Given the description of an element on the screen output the (x, y) to click on. 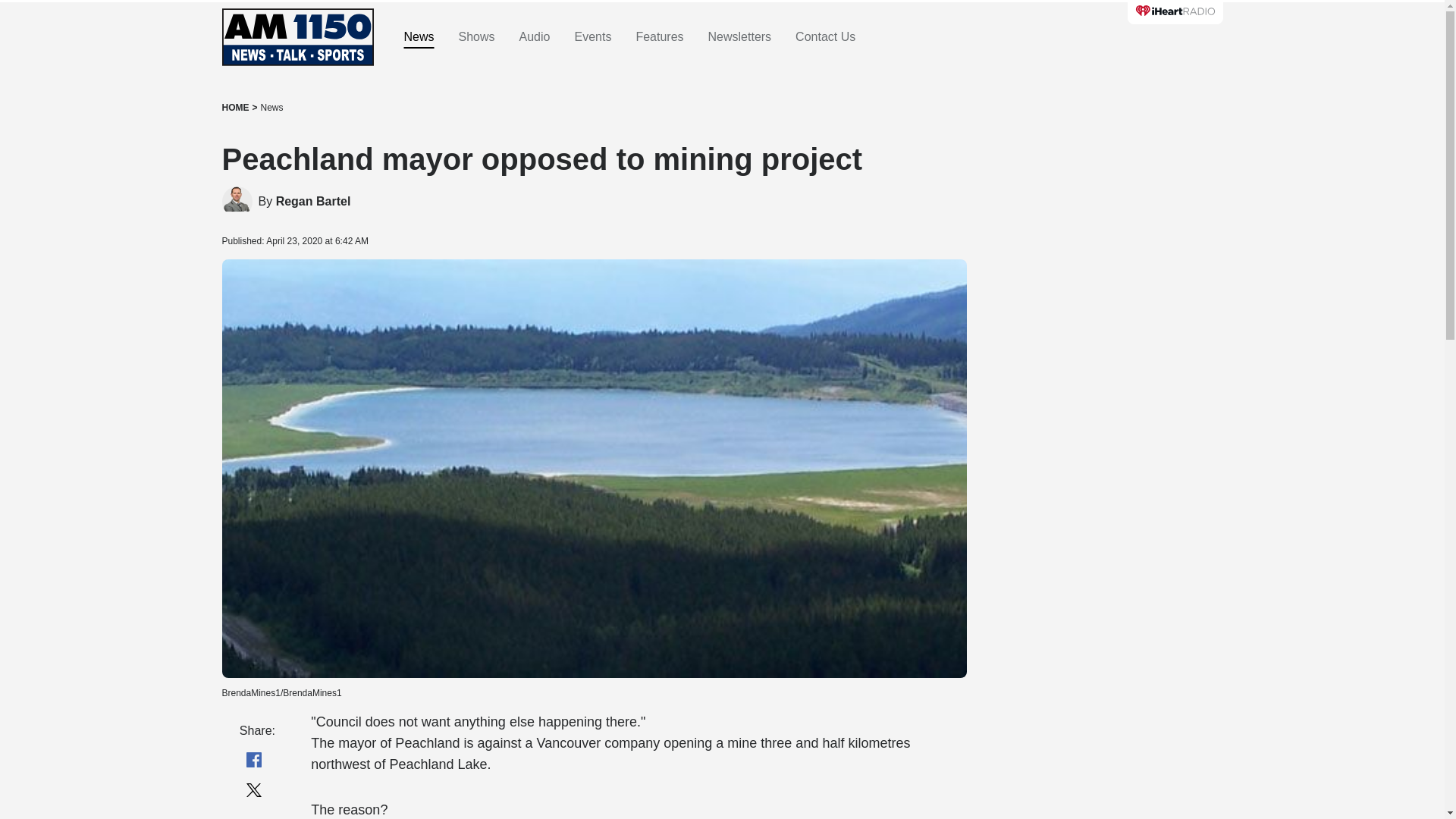
Regan Bartel (313, 201)
Contact Us (825, 37)
Newsletters (739, 37)
Regan Bartel (313, 201)
HOME (234, 107)
Regan Bartel (236, 201)
Features (658, 37)
News (271, 107)
